Given the description of an element on the screen output the (x, y) to click on. 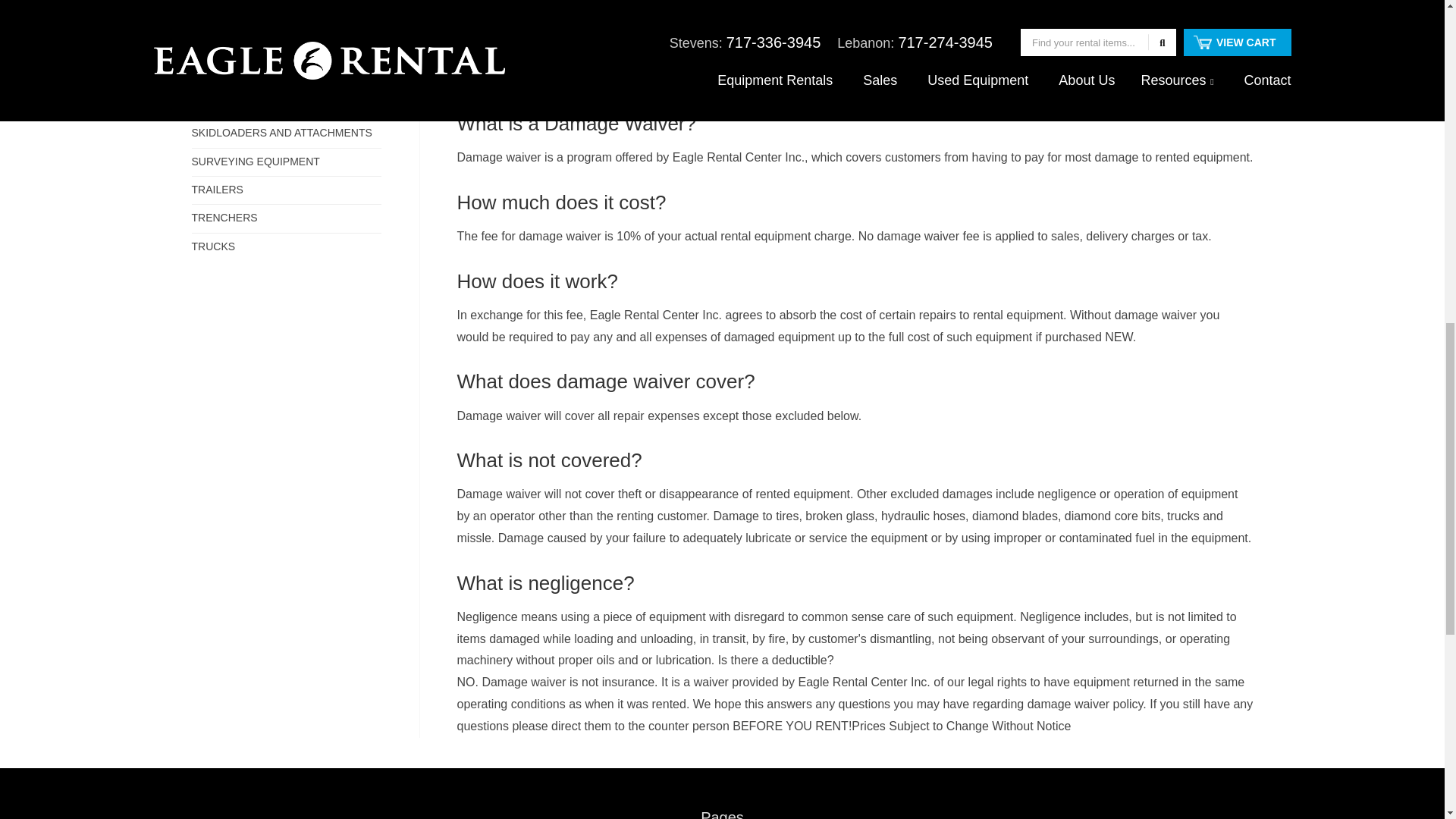
PRESSURE WASHERS (285, 20)
POWER TOOLS (285, 2)
SANDBLASTERS (285, 48)
